Given the description of an element on the screen output the (x, y) to click on. 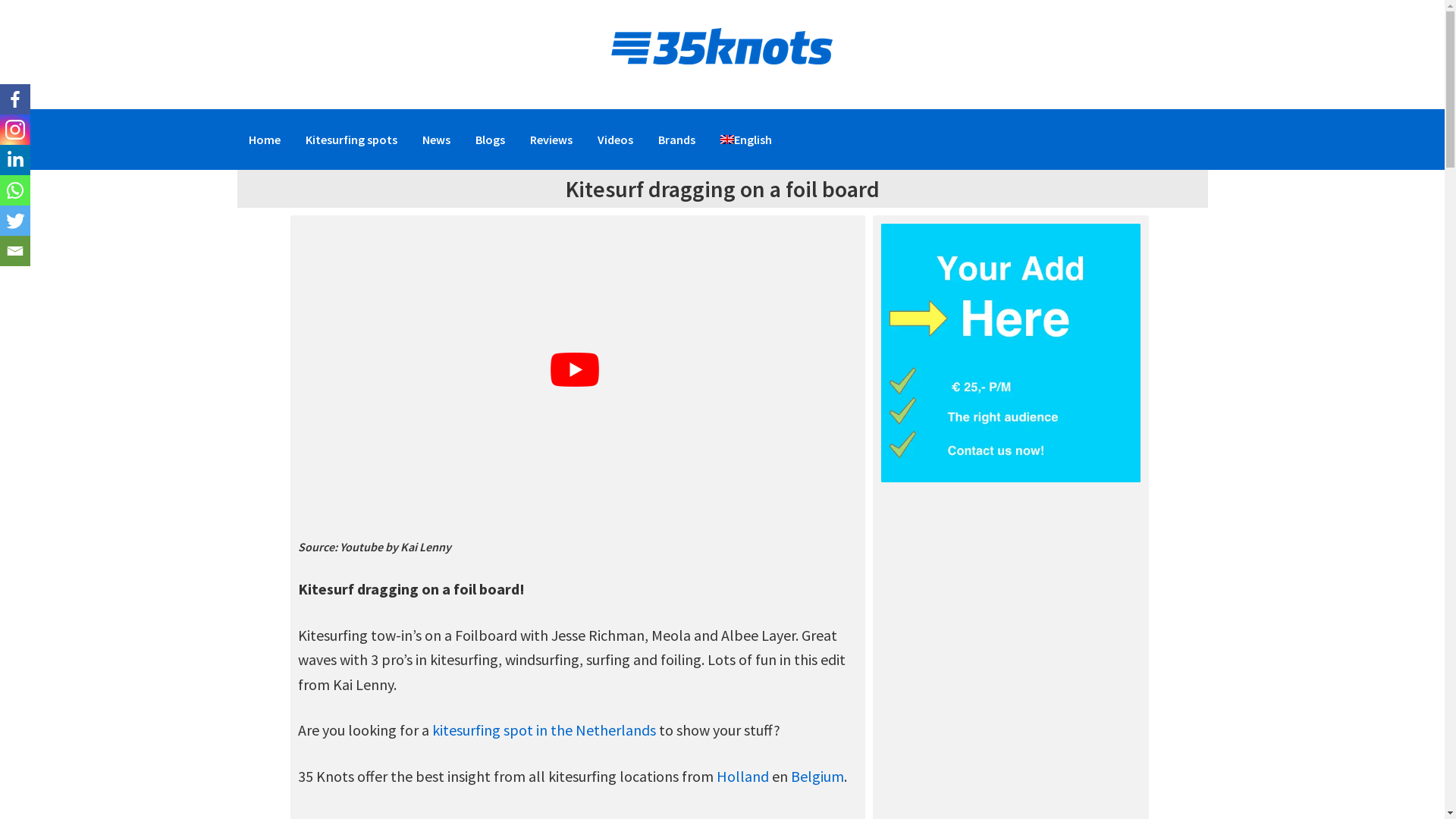
Advertisement Element type: hover (931, 51)
Whatsapp Element type: hover (15, 190)
Blogs Element type: text (490, 139)
Brands Element type: text (676, 139)
Videos Element type: text (614, 139)
kitesurfing spot in the Netherlands Element type: text (543, 729)
Linkedin Element type: hover (15, 159)
Email Element type: hover (15, 250)
Holland Element type: text (741, 775)
35 Knots Element type: text (721, 47)
Skip to primary navigation Element type: text (0, 2)
Facebook Element type: hover (15, 99)
Kitesurfing spots Element type: text (351, 139)
Home Element type: text (263, 139)
Twitter Element type: hover (15, 220)
English Element type: text (745, 139)
Reviews Element type: text (550, 139)
News Element type: text (436, 139)
Belgium Element type: text (816, 775)
Instagram Element type: hover (15, 129)
